Given the description of an element on the screen output the (x, y) to click on. 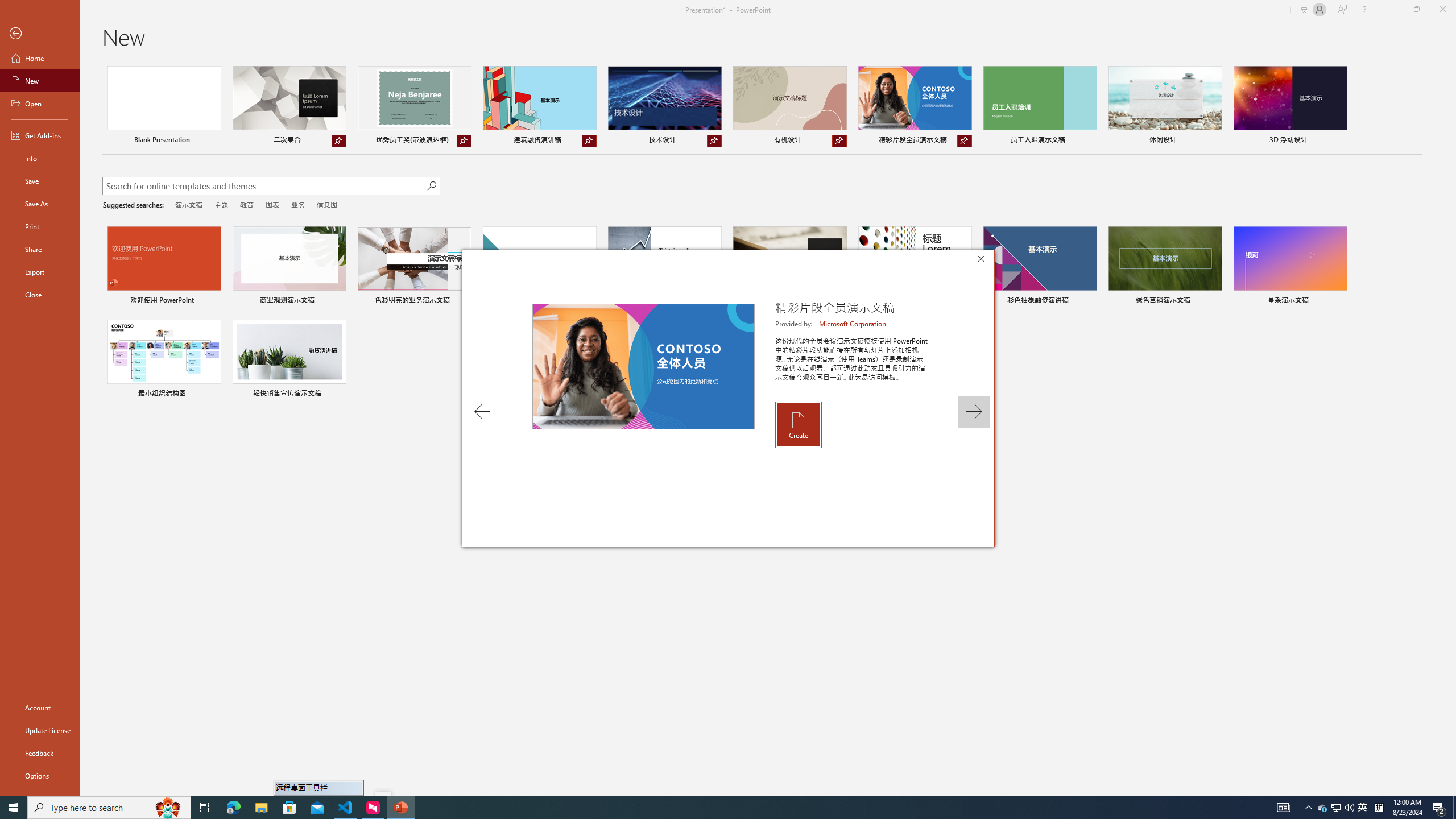
Save As (40, 203)
